Given the description of an element on the screen output the (x, y) to click on. 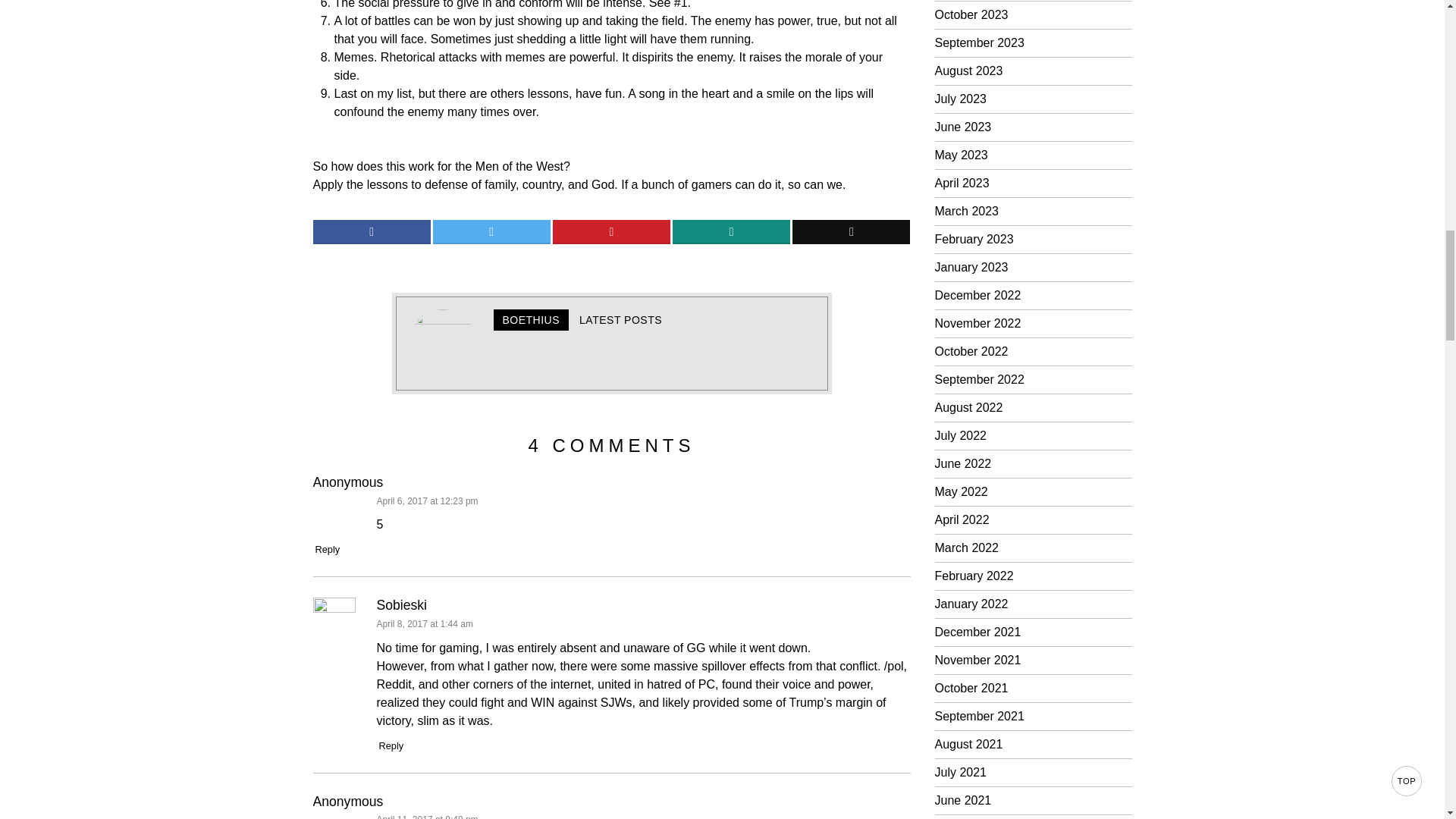
LATEST POSTS (620, 319)
April 11, 2017 at 9:48 pm (426, 816)
April 8, 2017 at 1:44 am (423, 624)
April 6, 2017 at 12:23 pm (426, 501)
Reply (327, 549)
Reply (390, 745)
BOETHIUS (531, 319)
